Given the description of an element on the screen output the (x, y) to click on. 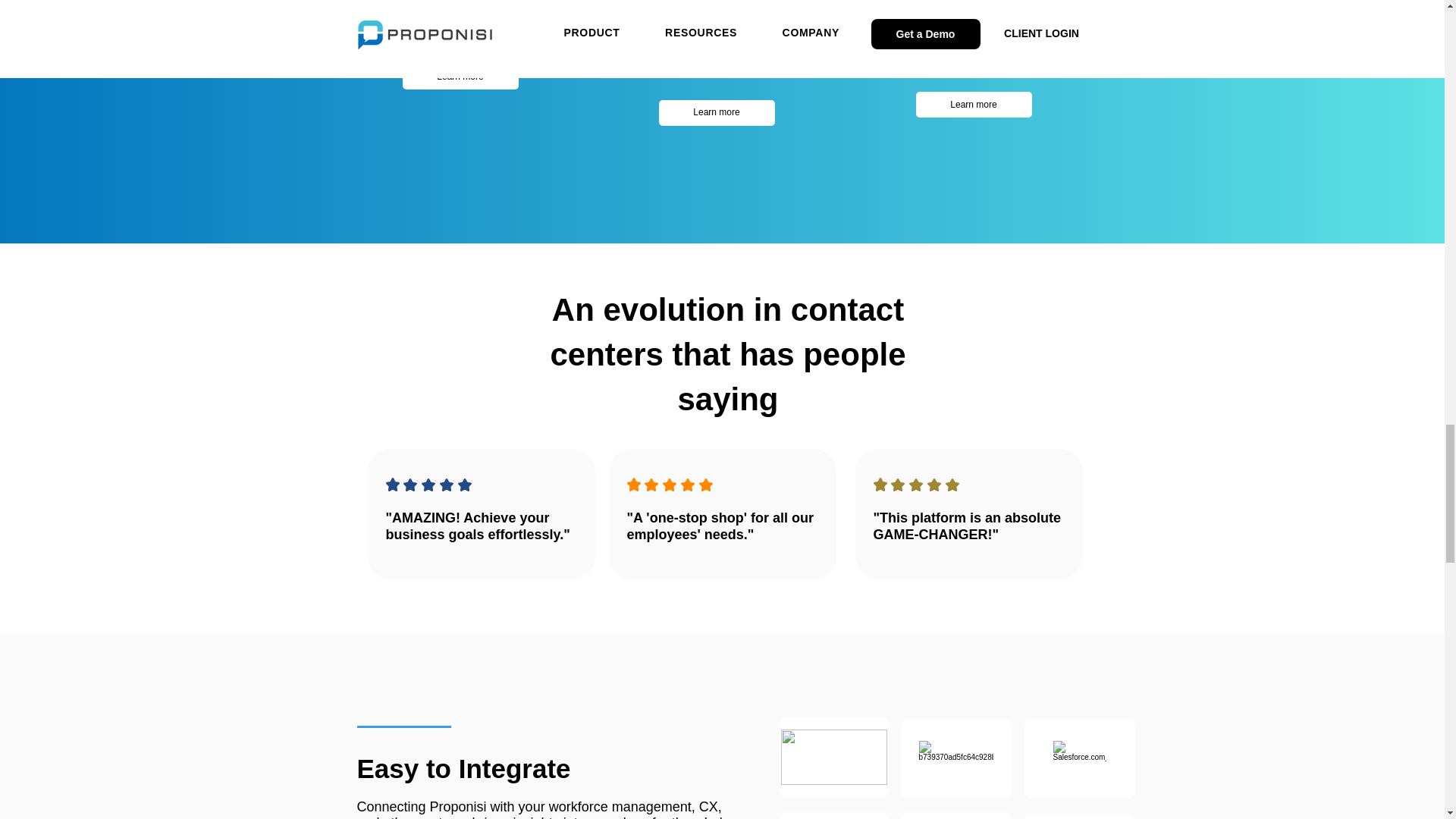
Learn more (973, 104)
Learn more (459, 76)
Learn more (716, 112)
